Given the description of an element on the screen output the (x, y) to click on. 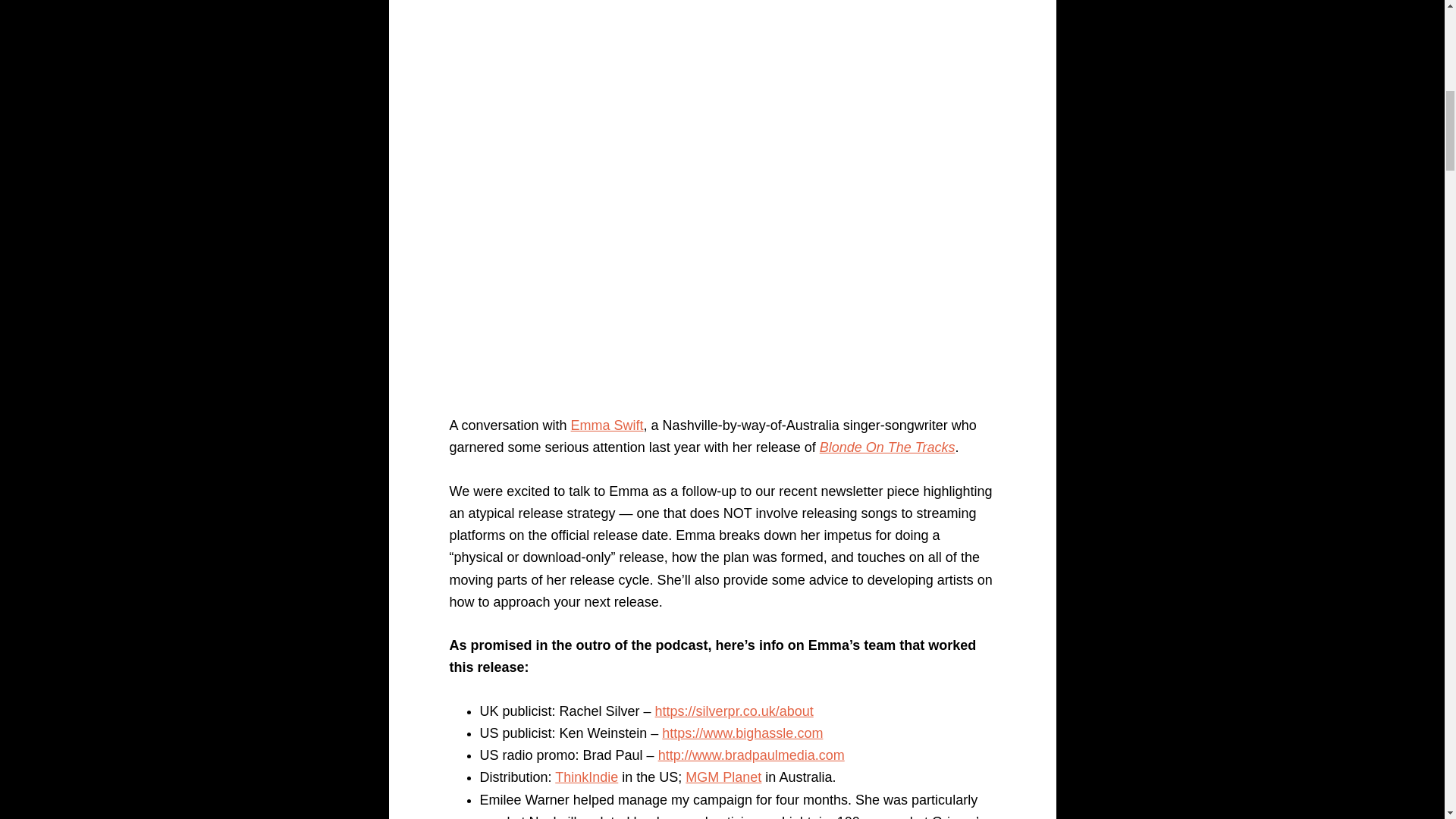
ThinkIndie (585, 776)
Emma Swift (606, 425)
Blonde On The Tracks (887, 447)
MGM Planet (723, 776)
